Given the description of an element on the screen output the (x, y) to click on. 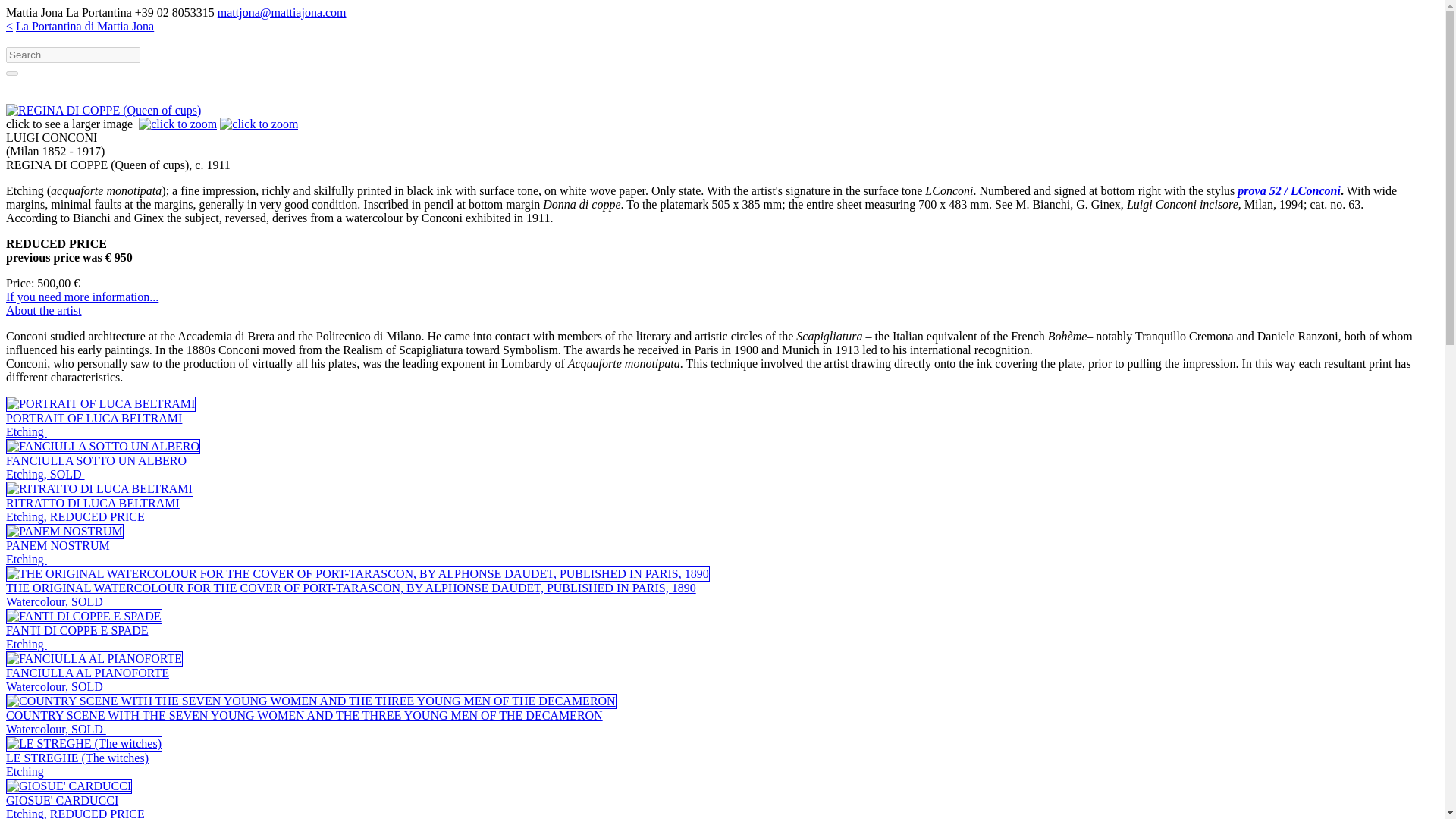
iscrizione (1287, 190)
If you need more information... (95, 467)
About the artist (86, 679)
